Given the description of an element on the screen output the (x, y) to click on. 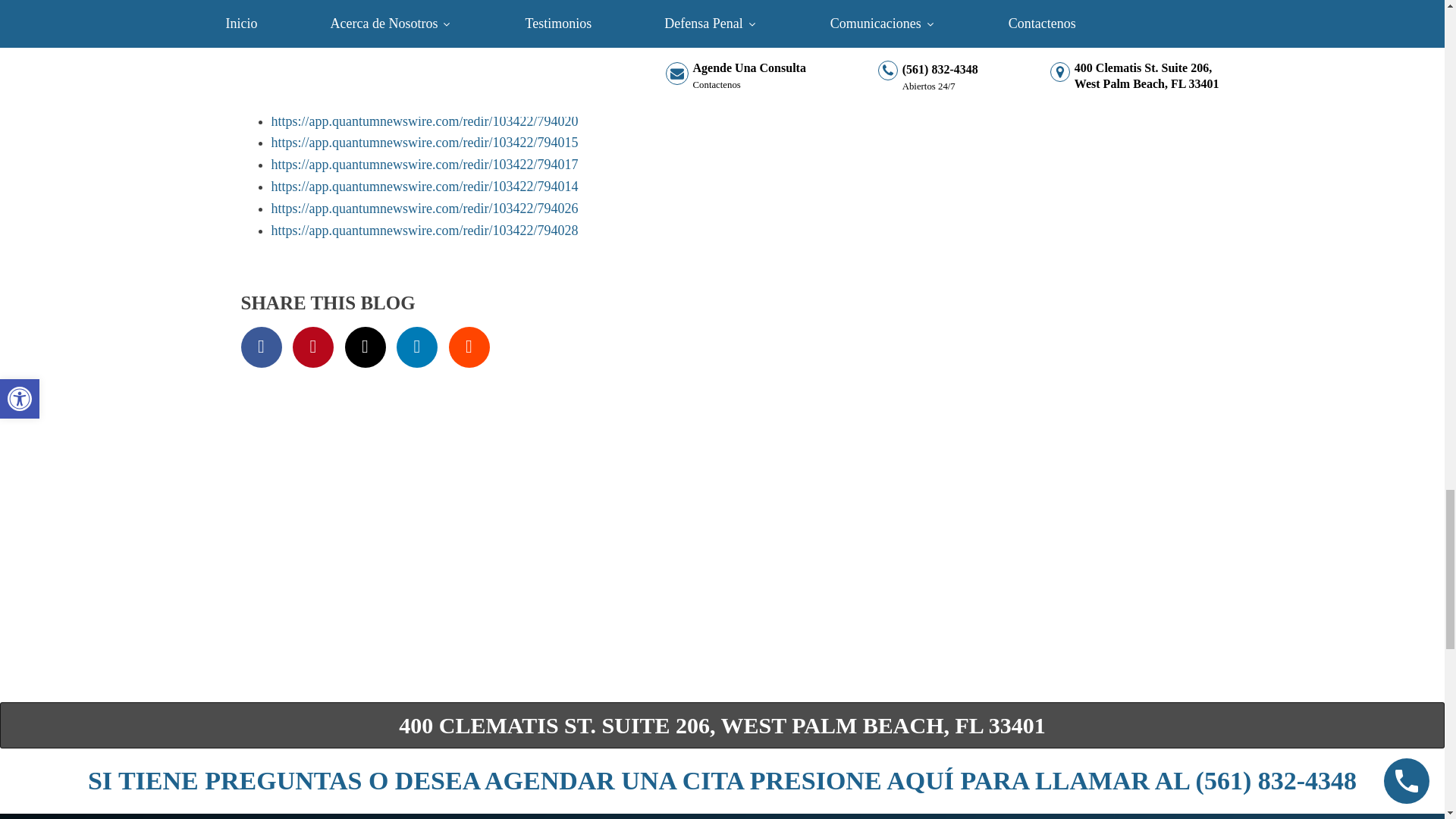
Submit to Reddit (468, 346)
Email (364, 346)
Pin it (312, 346)
Share on LinkedIn (417, 346)
Share on Facebook (261, 346)
